Given the description of an element on the screen output the (x, y) to click on. 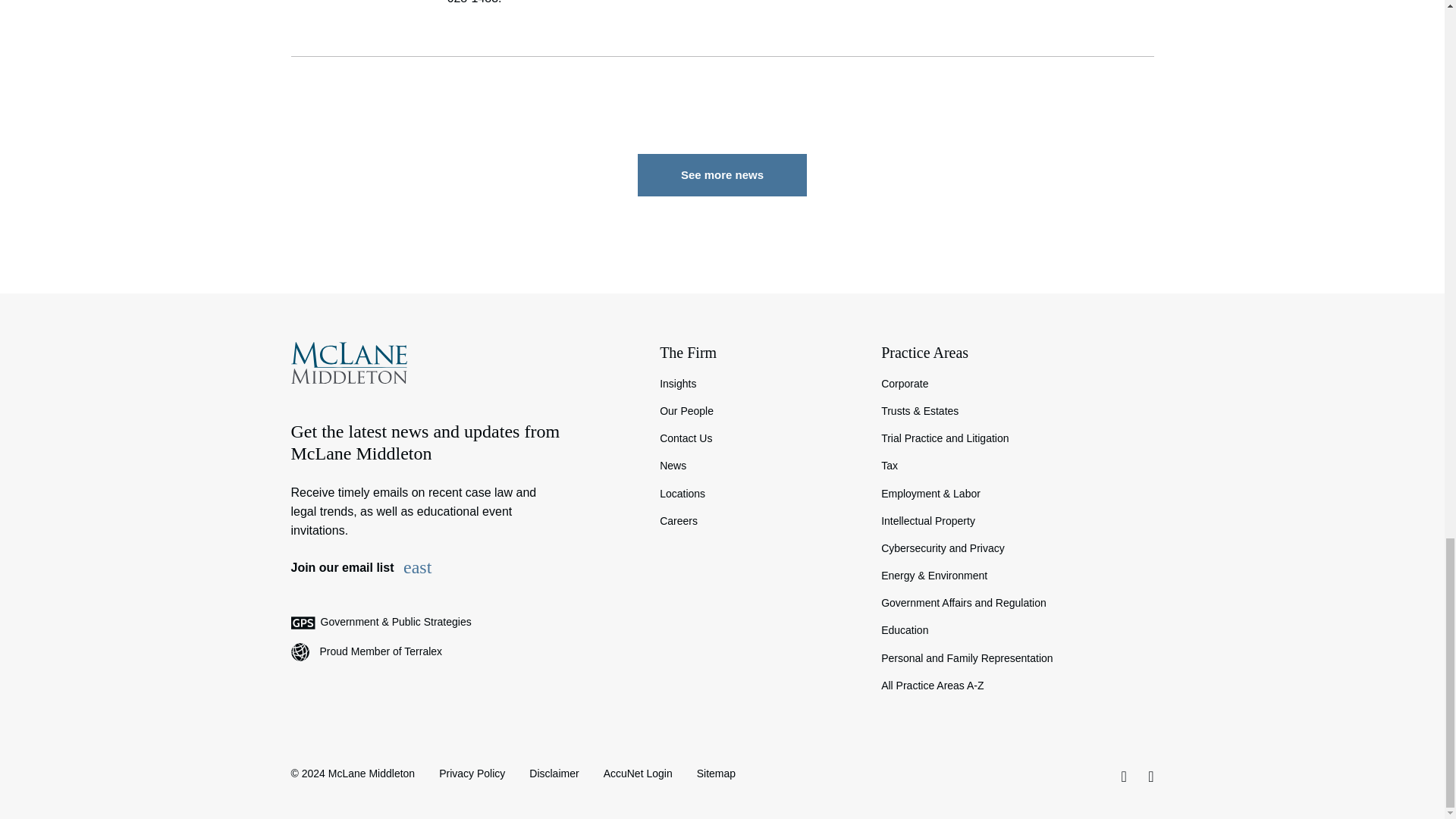
Tax (1016, 465)
Trial Practice and Litigation (1016, 437)
News (759, 465)
The Firm (759, 352)
Contact Us (759, 437)
Practice Areas (1016, 352)
Careers (759, 520)
Corporate (1016, 383)
Insights (759, 383)
Locations (759, 493)
Our People (759, 410)
